Given the description of an element on the screen output the (x, y) to click on. 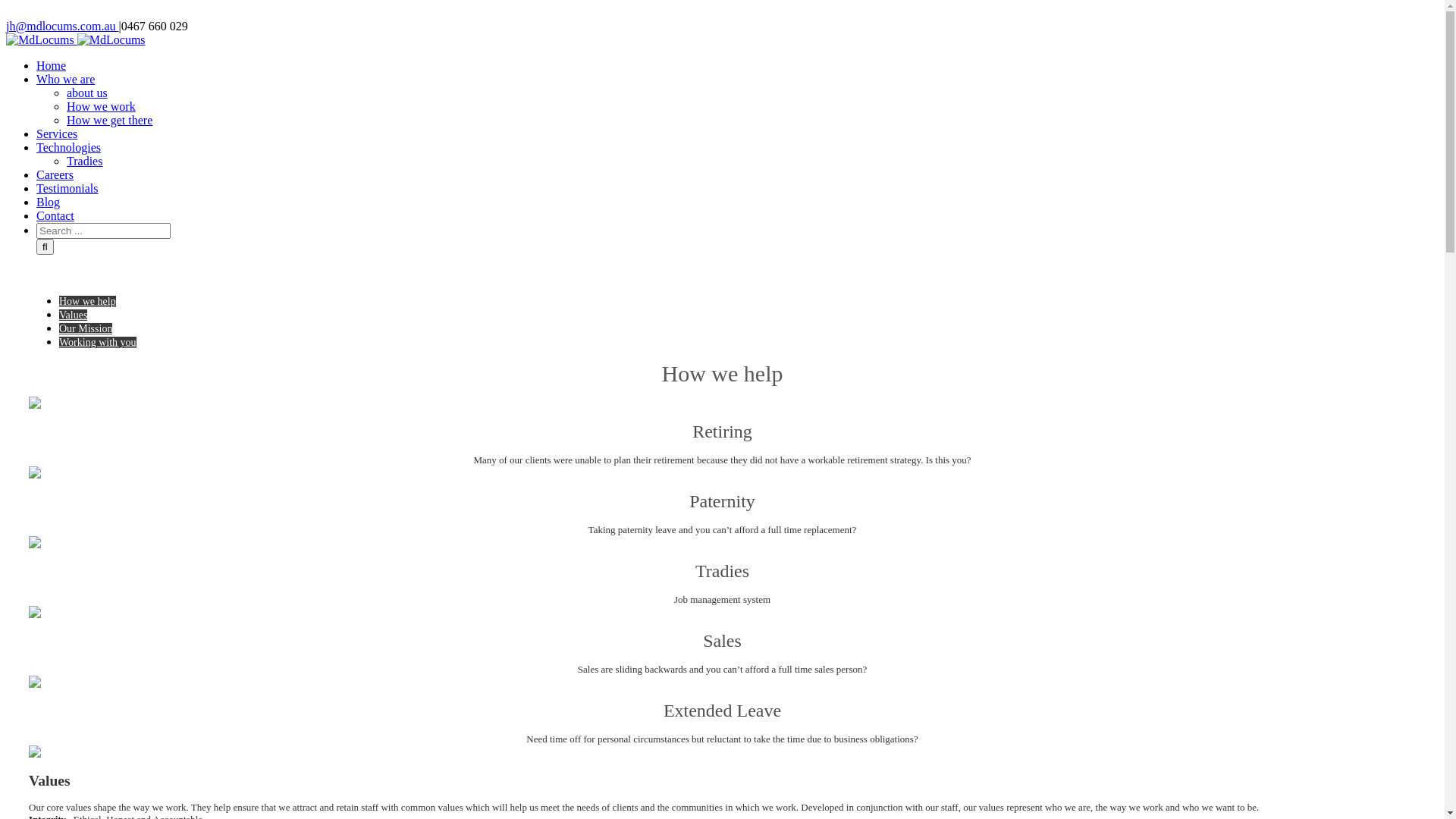
Services Element type: text (56, 133)
Testimonials Element type: text (67, 188)
Contact Element type: text (55, 215)
Twitter Element type: text (70, 12)
Tradies Element type: text (84, 160)
Facebook Element type: text (29, 12)
Blog Element type: text (47, 201)
Home Element type: text (50, 65)
Technologies Element type: text (68, 147)
How we help Element type: text (87, 301)
How we get there Element type: text (109, 119)
Values Element type: text (73, 314)
Who we are Element type: text (65, 78)
about us Element type: text (86, 92)
Working with you Element type: text (97, 342)
How we work Element type: text (100, 106)
Our Mission Element type: text (85, 328)
jh@mdlocums.com.au Element type: text (62, 25)
Careers Element type: text (54, 174)
Linkedin Element type: text (109, 12)
